Given the description of an element on the screen output the (x, y) to click on. 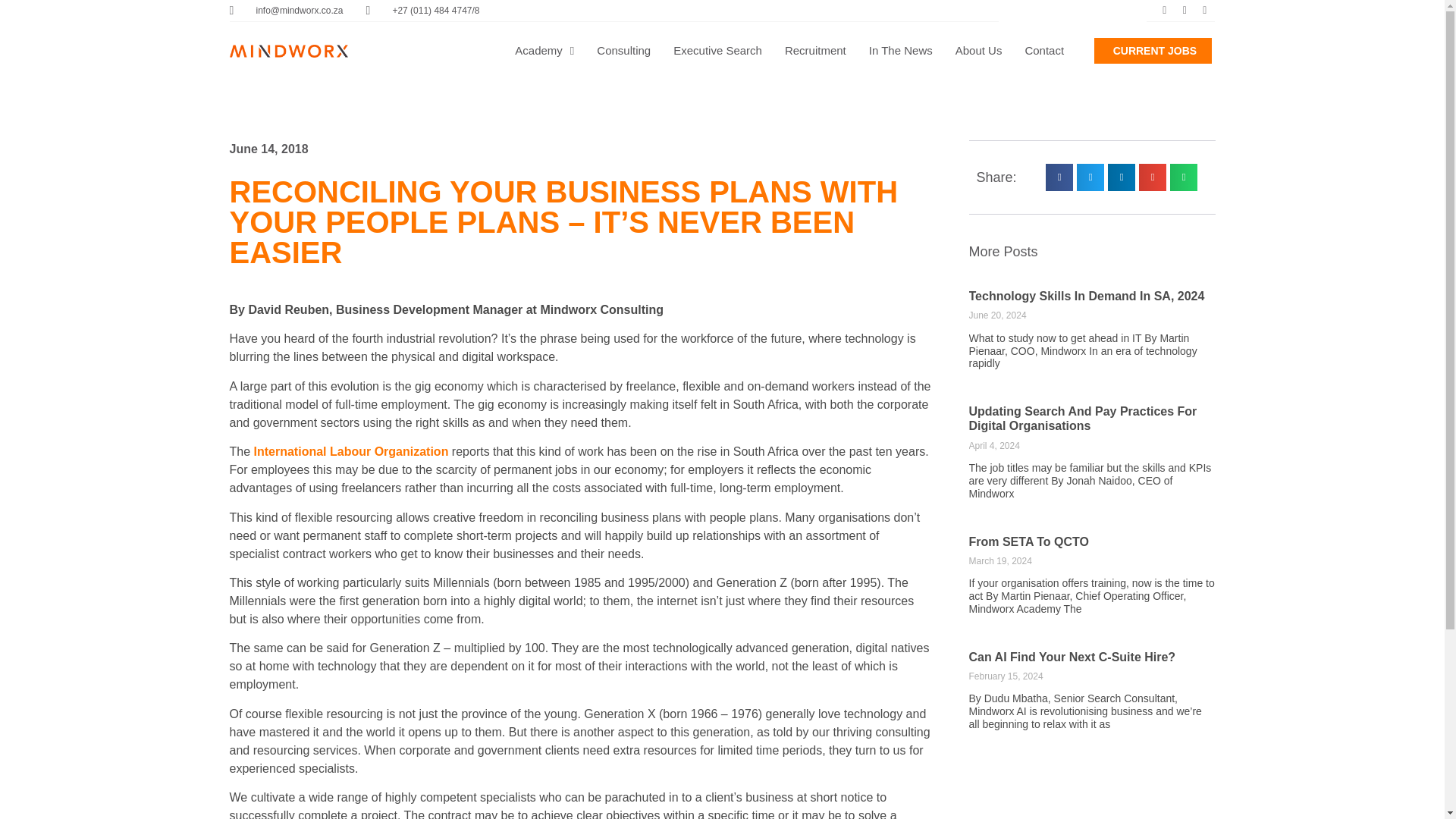
Consulting (623, 50)
Academy (544, 50)
Recruitment (814, 50)
In The News (901, 50)
Contact (1044, 50)
CURRENT JOBS (1152, 50)
About Us (979, 50)
Executive Search (716, 50)
